Given the description of an element on the screen output the (x, y) to click on. 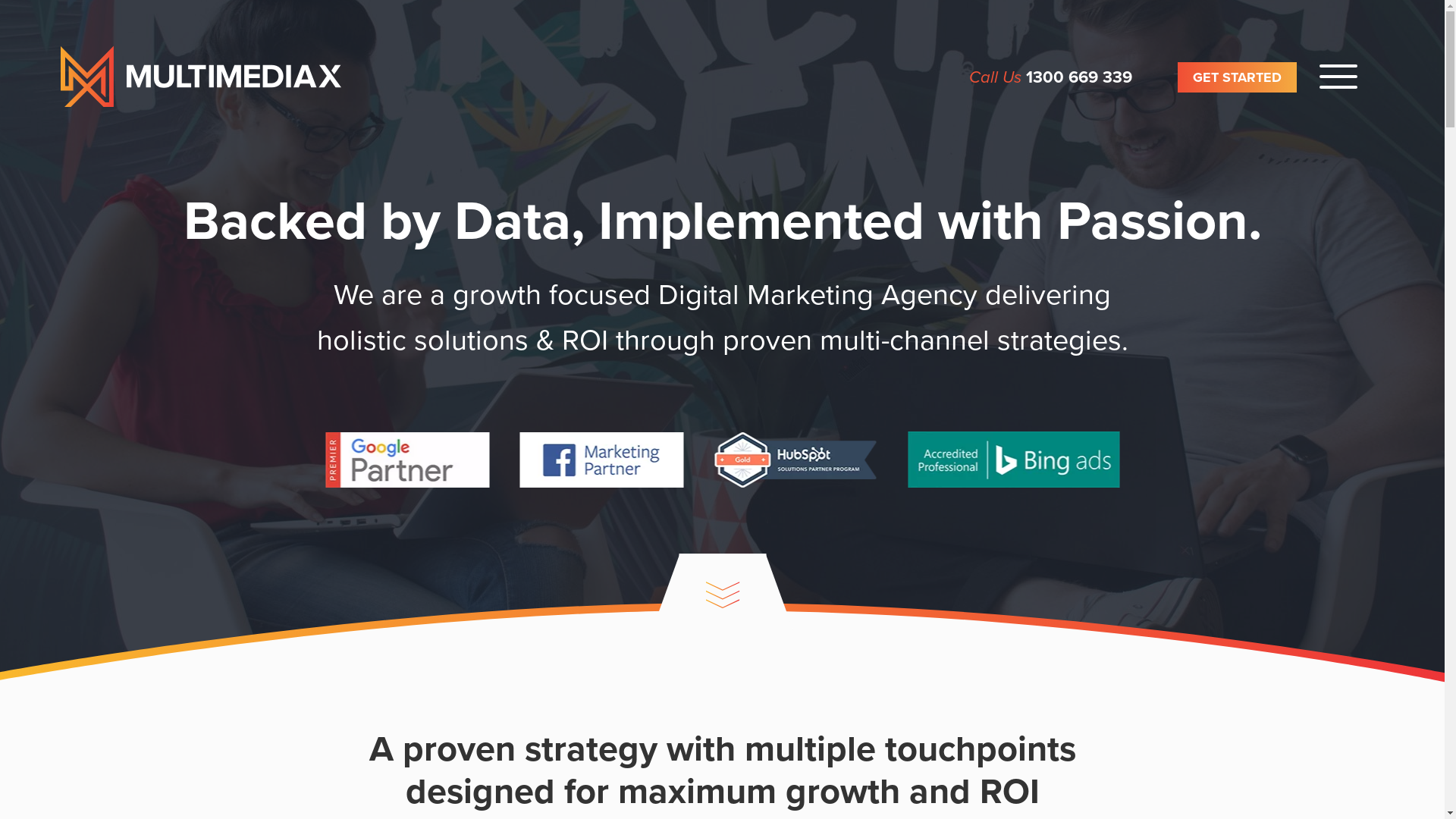
Multimediax Element type: text (200, 77)
1300 669 339 Element type: text (1079, 77)
GET STARTED Element type: text (1236, 77)
